Given the description of an element on the screen output the (x, y) to click on. 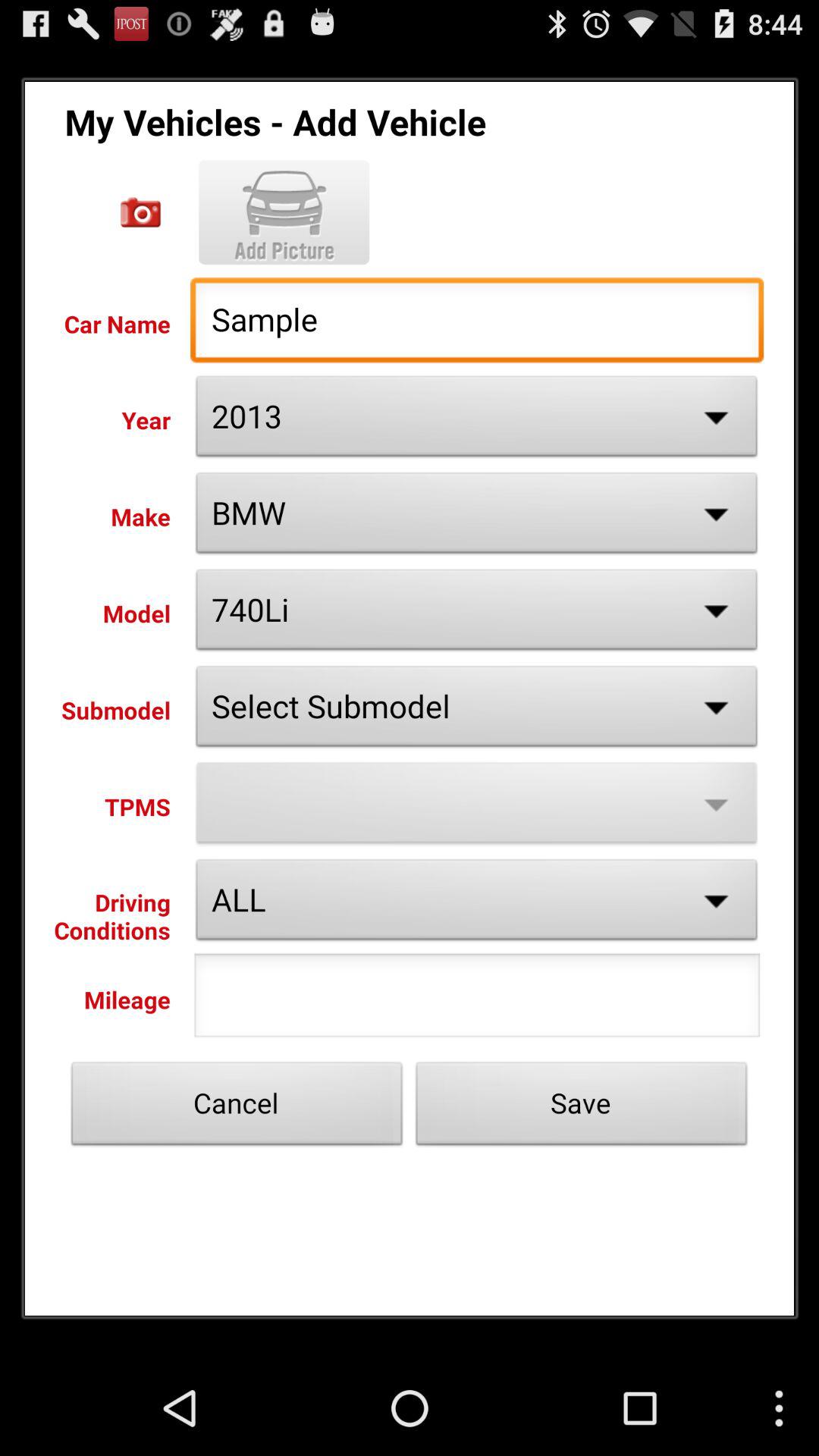
select to enter mileage (476, 999)
